Given the description of an element on the screen output the (x, y) to click on. 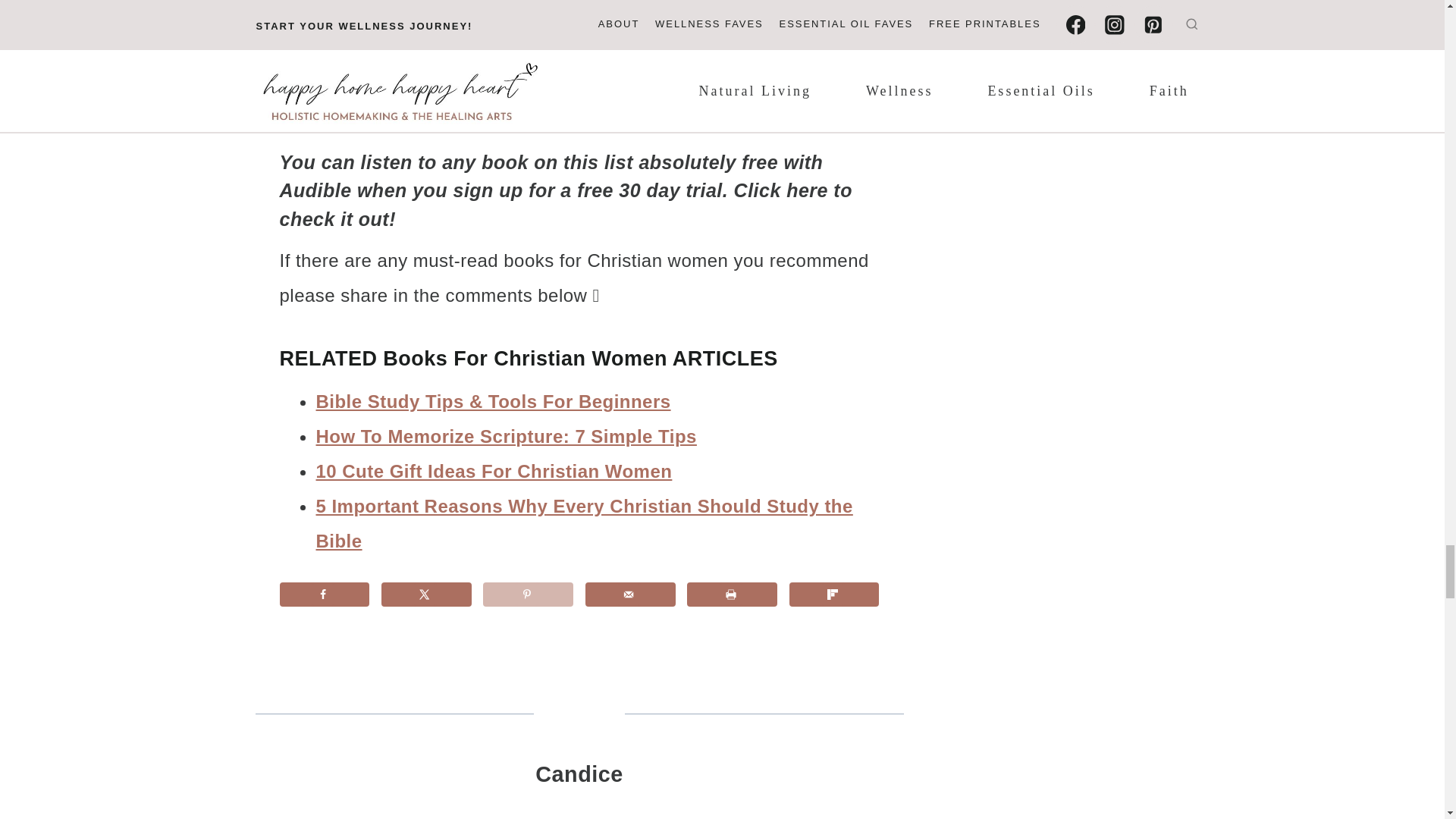
Save to Pinterest (528, 594)
Send over email (630, 594)
Share on Facebook (324, 594)
Share on X (426, 594)
Print this webpage (732, 594)
Share on Flipboard (834, 594)
